Given the description of an element on the screen output the (x, y) to click on. 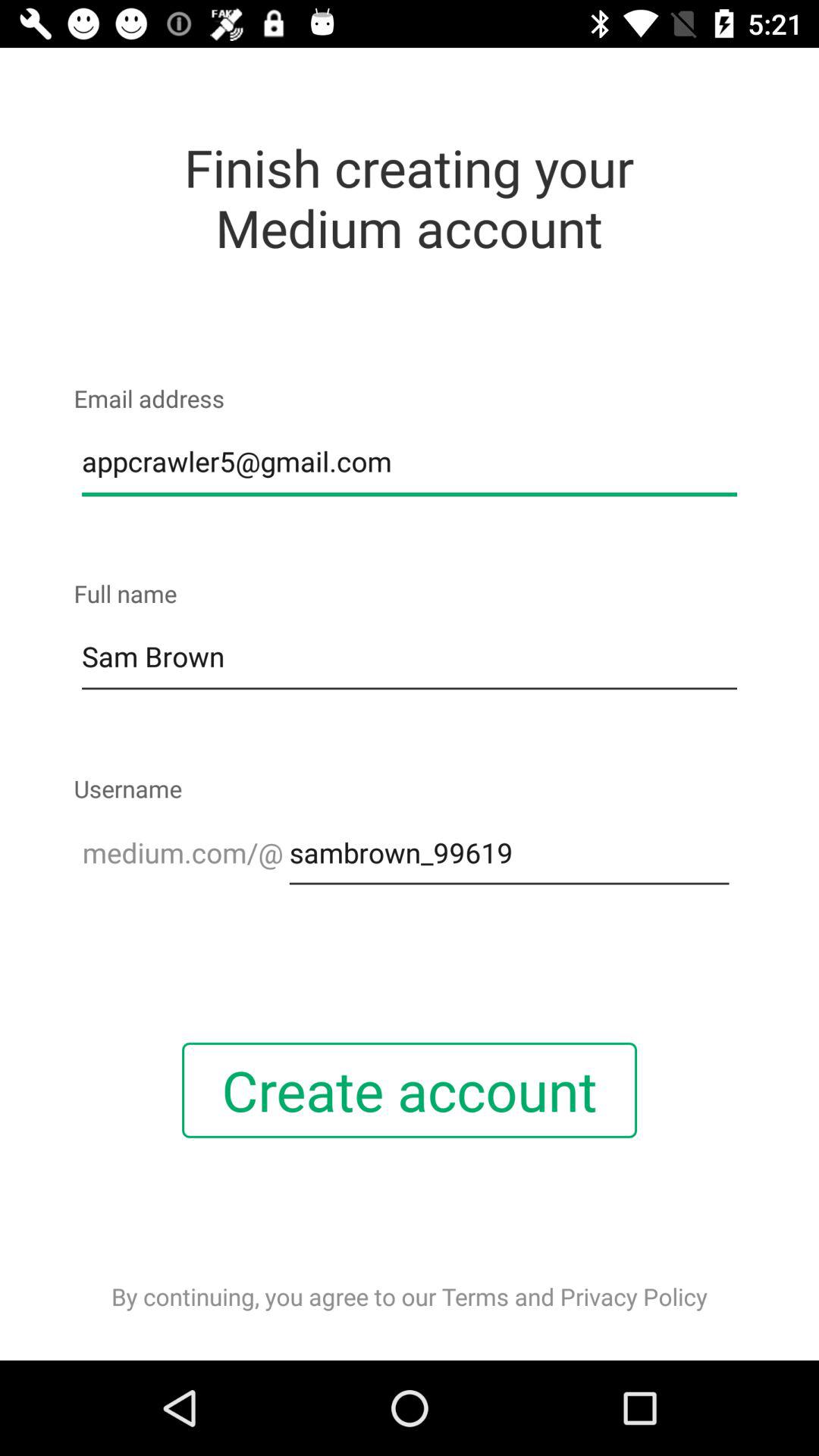
open the item below username (509, 852)
